Given the description of an element on the screen output the (x, y) to click on. 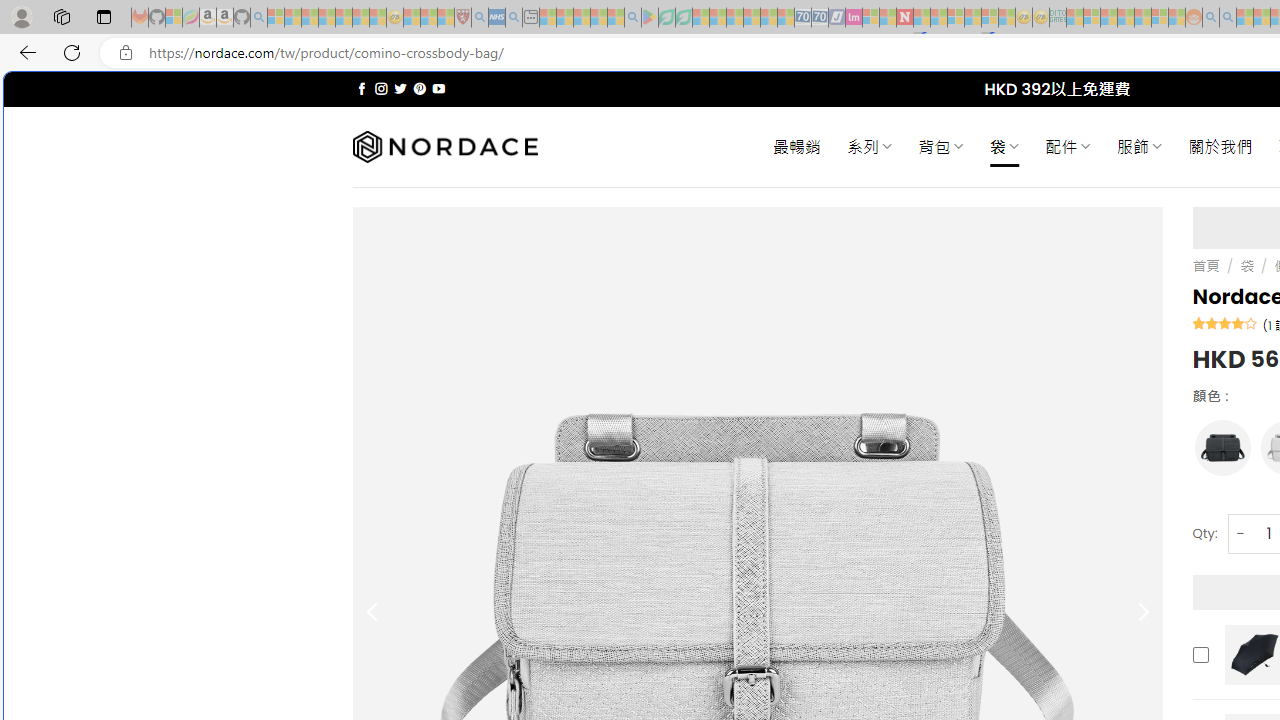
Follow on Instagram (381, 88)
Follow on Twitter (400, 88)
Add this product to cart (1200, 654)
